Given the description of an element on the screen output the (x, y) to click on. 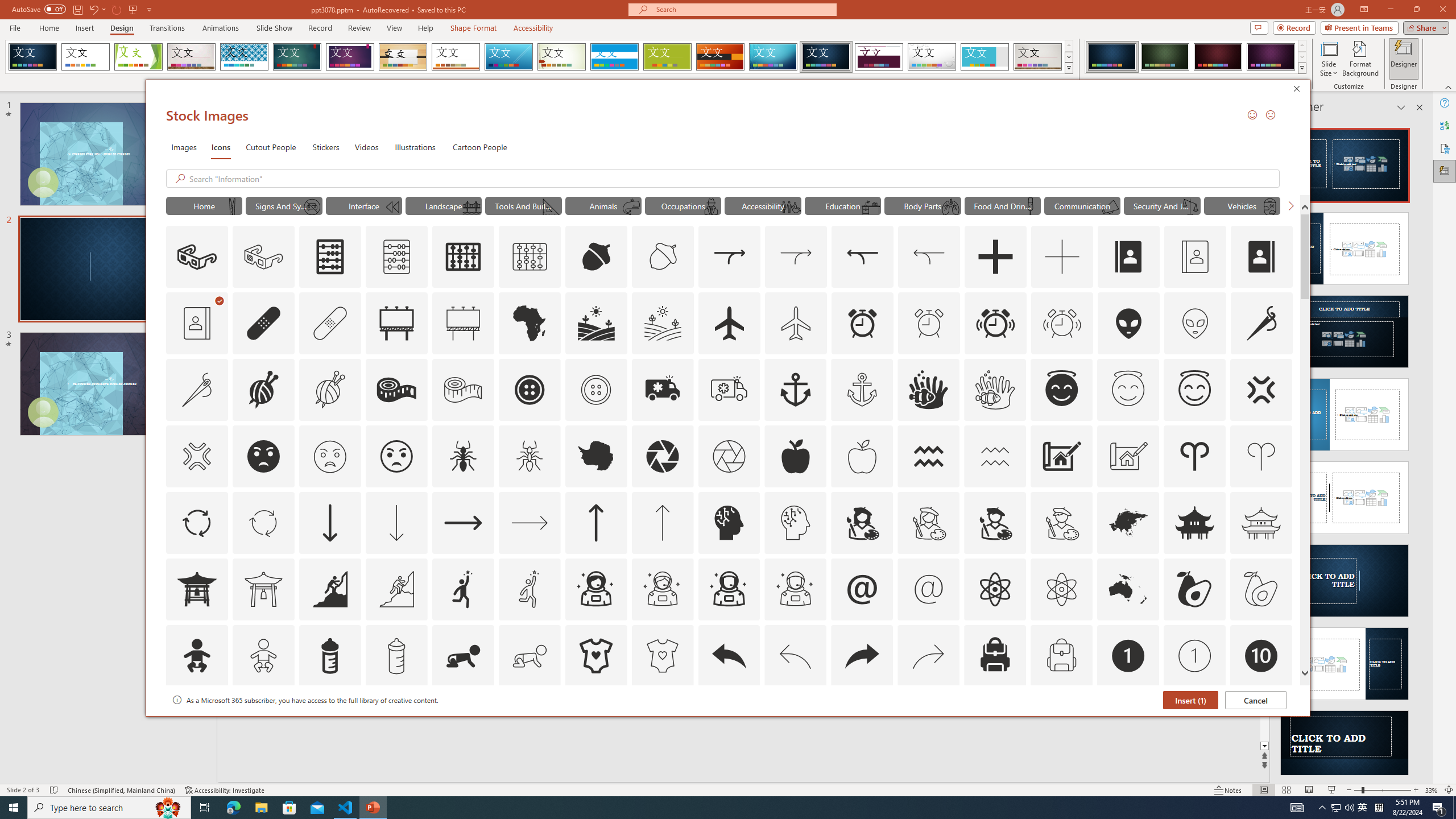
AutomationID: Icons_Badge2 (263, 721)
AutomationID: Icons_Ant_M (529, 455)
AutomationID: Icons_Badge3 (395, 721)
AutomationID: Icons_AstronautFemale_M (662, 588)
AutomationID: Icons_AlterationsTailoring (1261, 323)
AutomationID: Icons_Aperture (662, 455)
Retrospect (455, 56)
Damask Variant 1 (1112, 56)
AutomationID: Icons_AstronautMale (729, 588)
